Given the description of an element on the screen output the (x, y) to click on. 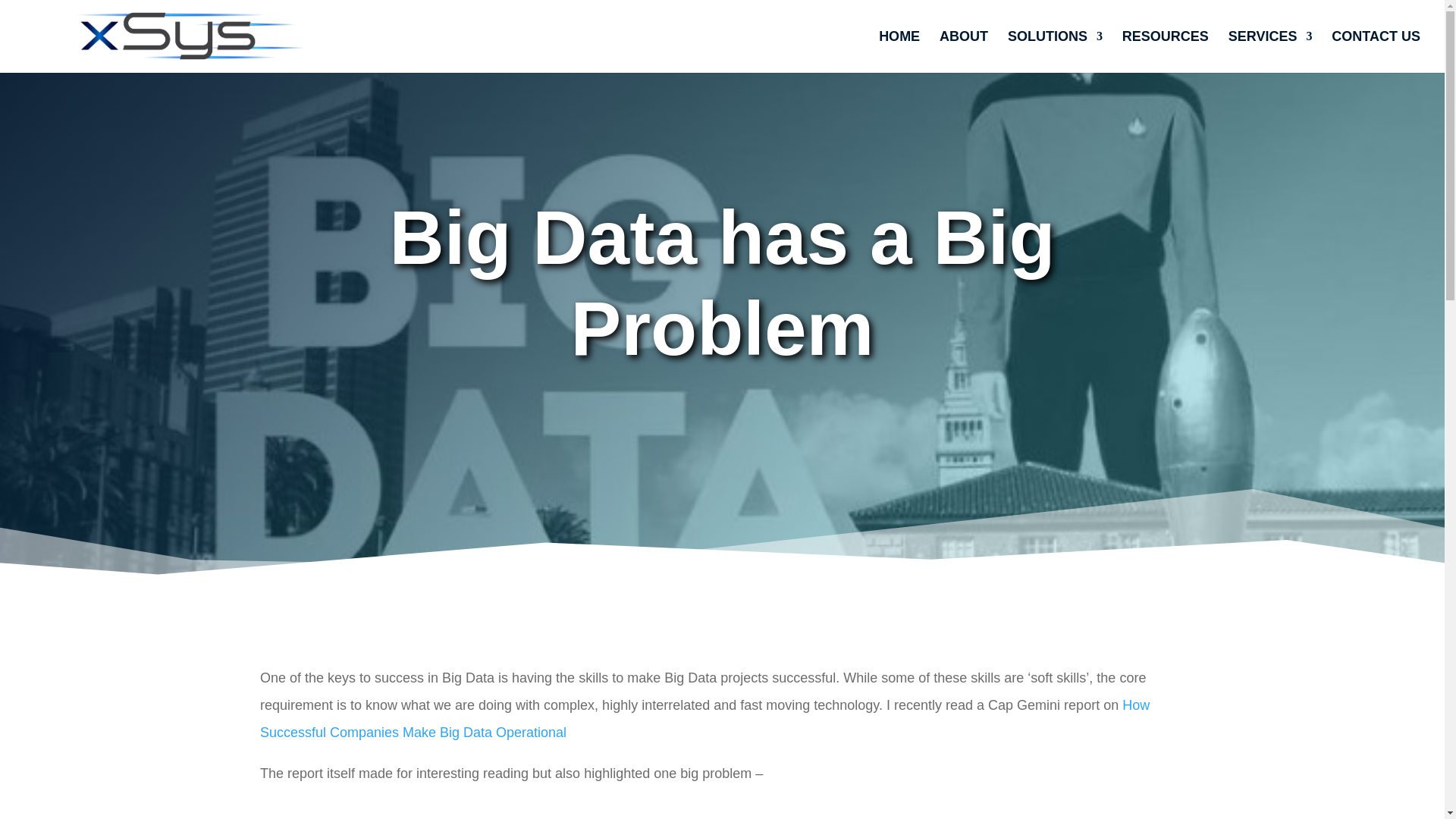
RESOURCES (1165, 51)
CONTACT US (1376, 51)
SOLUTIONS (1054, 51)
SERVICES (1270, 51)
ABOUT (963, 51)
HOME (899, 51)
How Successful Companies Make Big Data Operational  (705, 718)
